Given the description of an element on the screen output the (x, y) to click on. 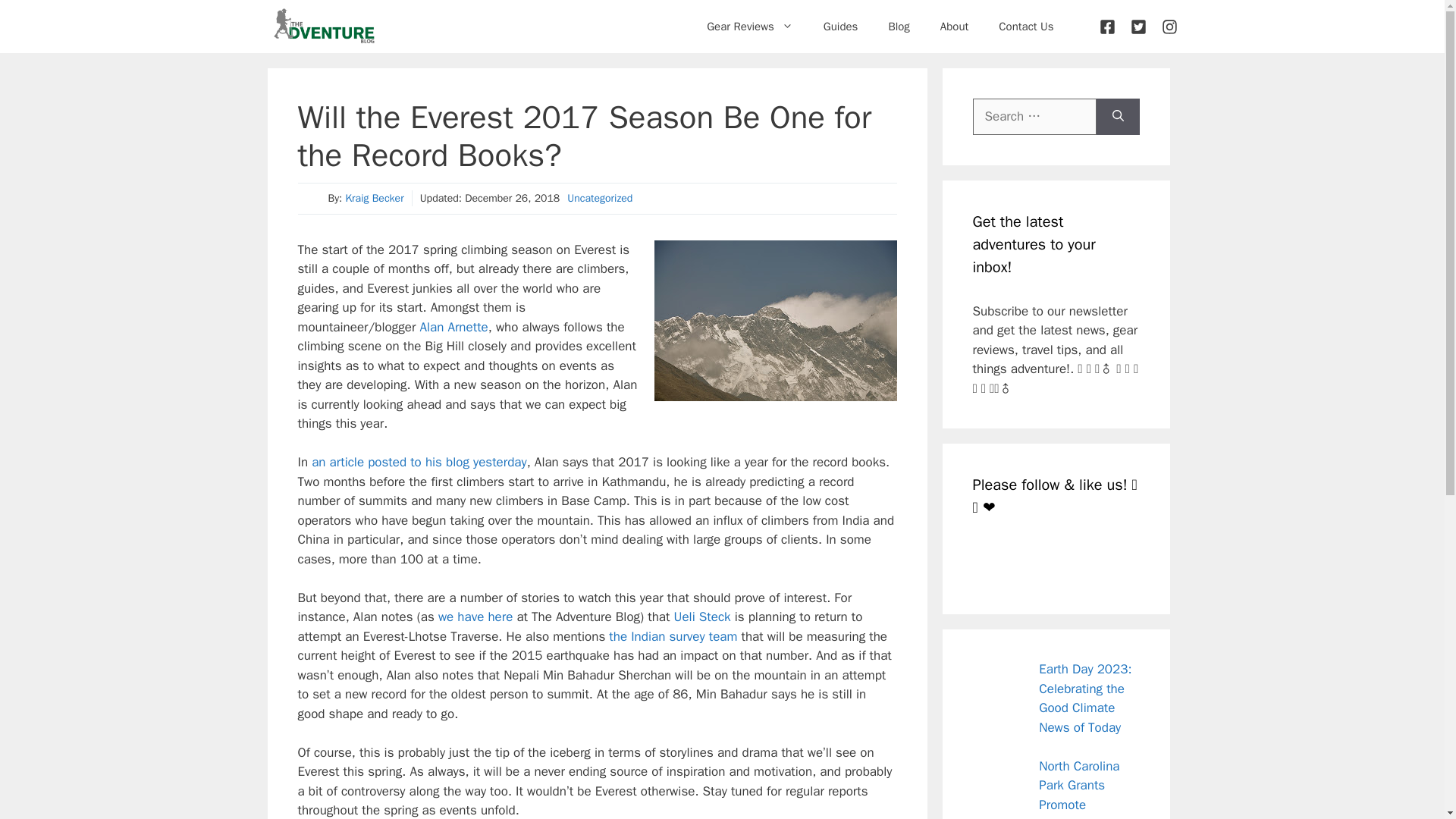
Instagram (1058, 560)
Gear Reviews (749, 26)
the Indian survey team (672, 636)
The Adventure Blog (323, 26)
Uncategorized (599, 197)
an article posted to his blog yesterday (418, 462)
Search for: (1034, 116)
Ueli Steck (702, 616)
About (954, 26)
Guides (840, 26)
